Given the description of an element on the screen output the (x, y) to click on. 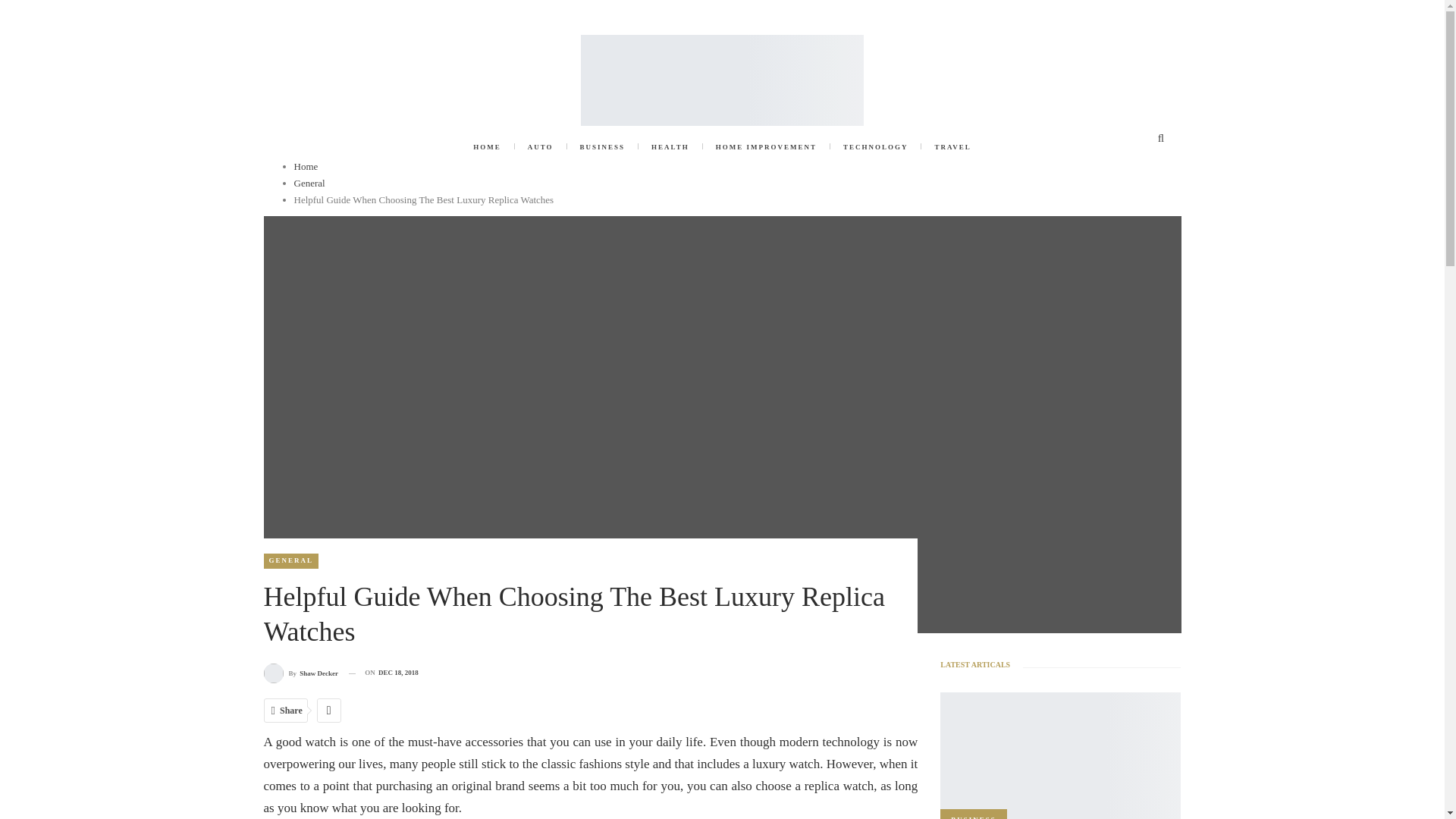
TRAVEL (952, 146)
About Us (282, 12)
Contact Us (334, 12)
Home (306, 165)
GENERAL (290, 560)
HOME (486, 146)
HOME IMPROVEMENT (766, 146)
By Shaw Decker (301, 672)
Browse Author Articles (301, 672)
BUSINESS (603, 146)
General (309, 183)
TECHNOLOGY (875, 146)
AUTO (540, 146)
HEALTH (670, 146)
